Given the description of an element on the screen output the (x, y) to click on. 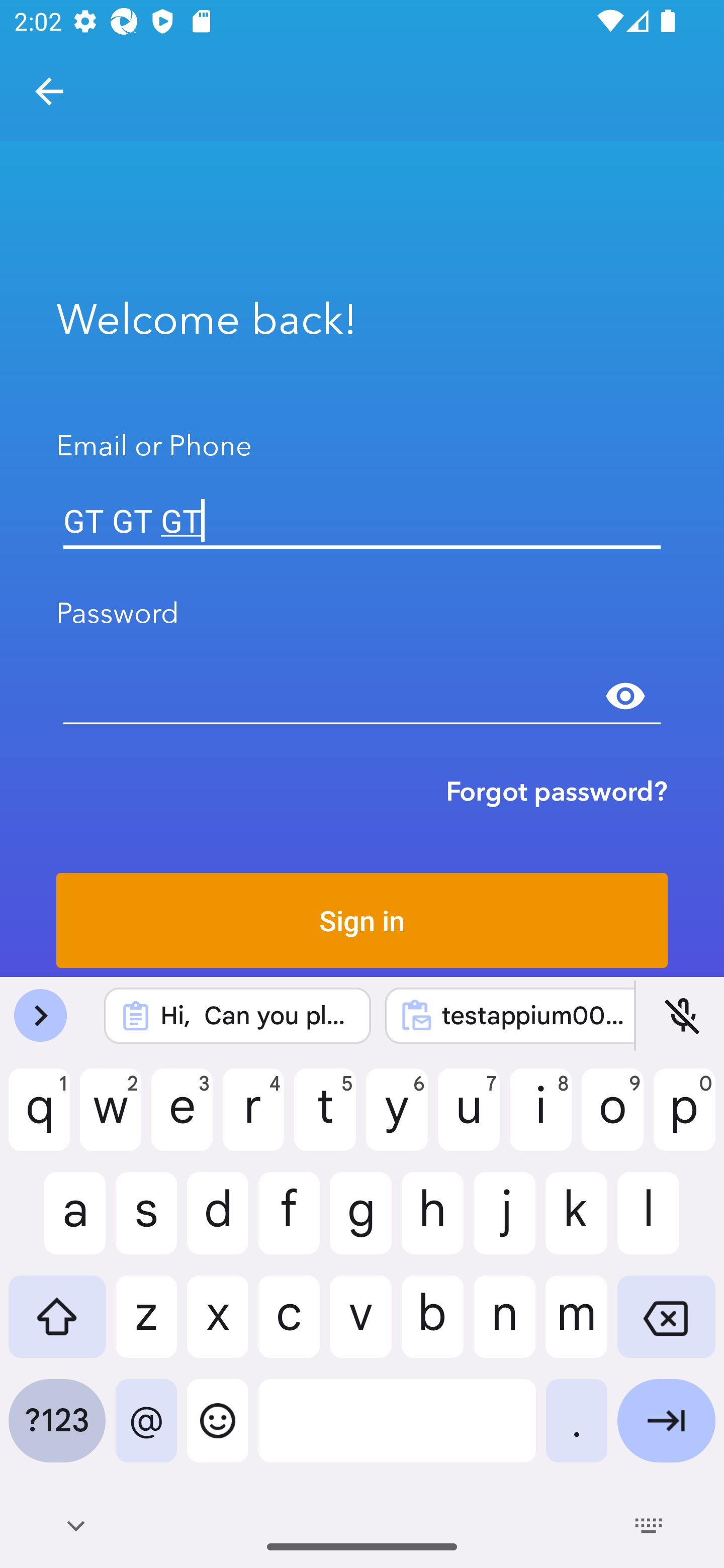
Navigate up (49, 91)
GT GT GT (361, 521)
Show password (625, 695)
Forgot password? (556, 790)
Sign in (361, 920)
